Given the description of an element on the screen output the (x, y) to click on. 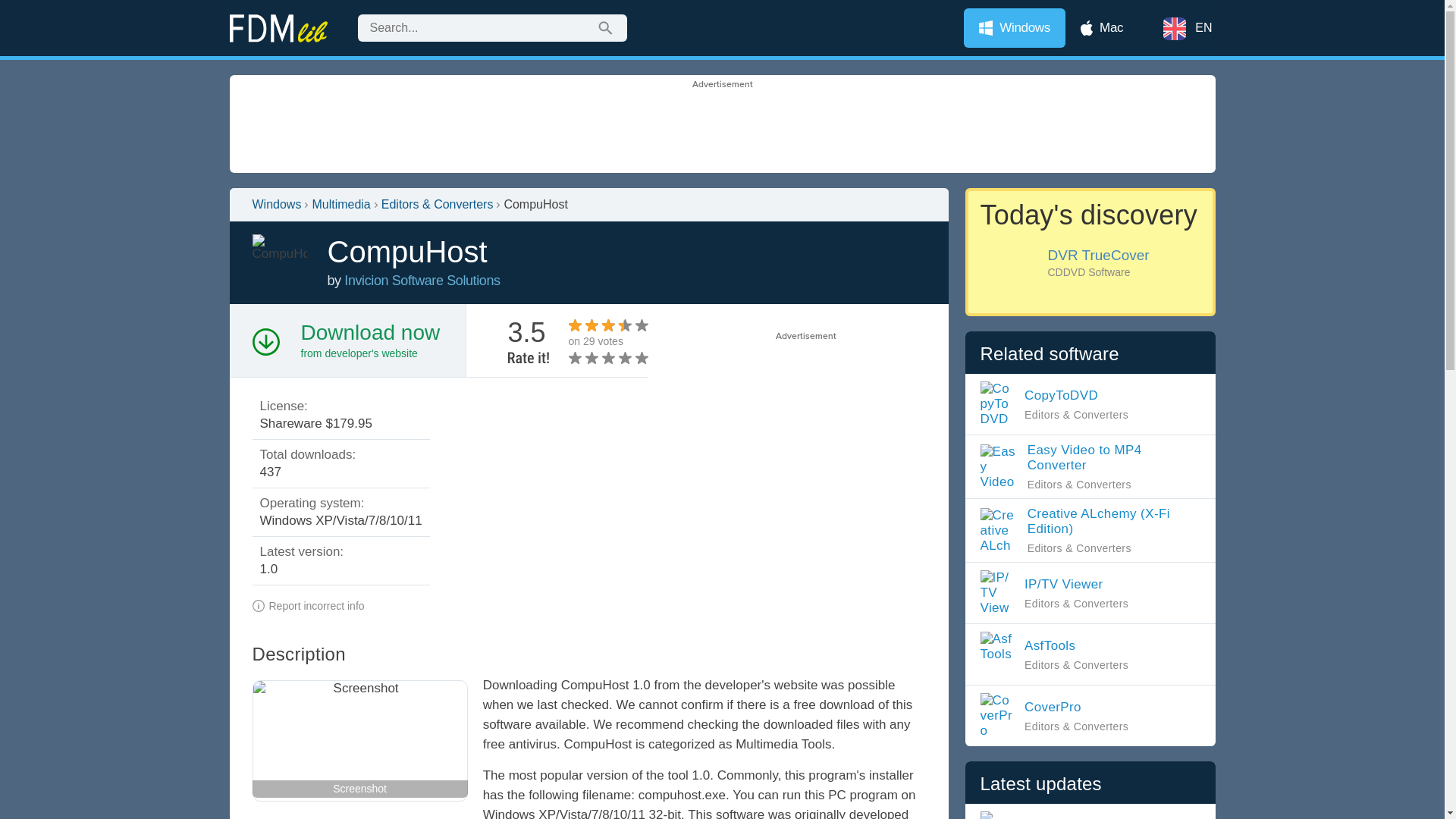
4 (601, 357)
2 (584, 357)
Advertisement (791, 449)
AsfTools (1059, 654)
CopyToDVD (1059, 403)
Windows (1014, 27)
Easy Video to MP4 Converter (1089, 466)
DVR TrueCover (1088, 252)
CompuHost Invicion Software Solutions (421, 280)
Mac (1101, 27)
